Given the description of an element on the screen output the (x, y) to click on. 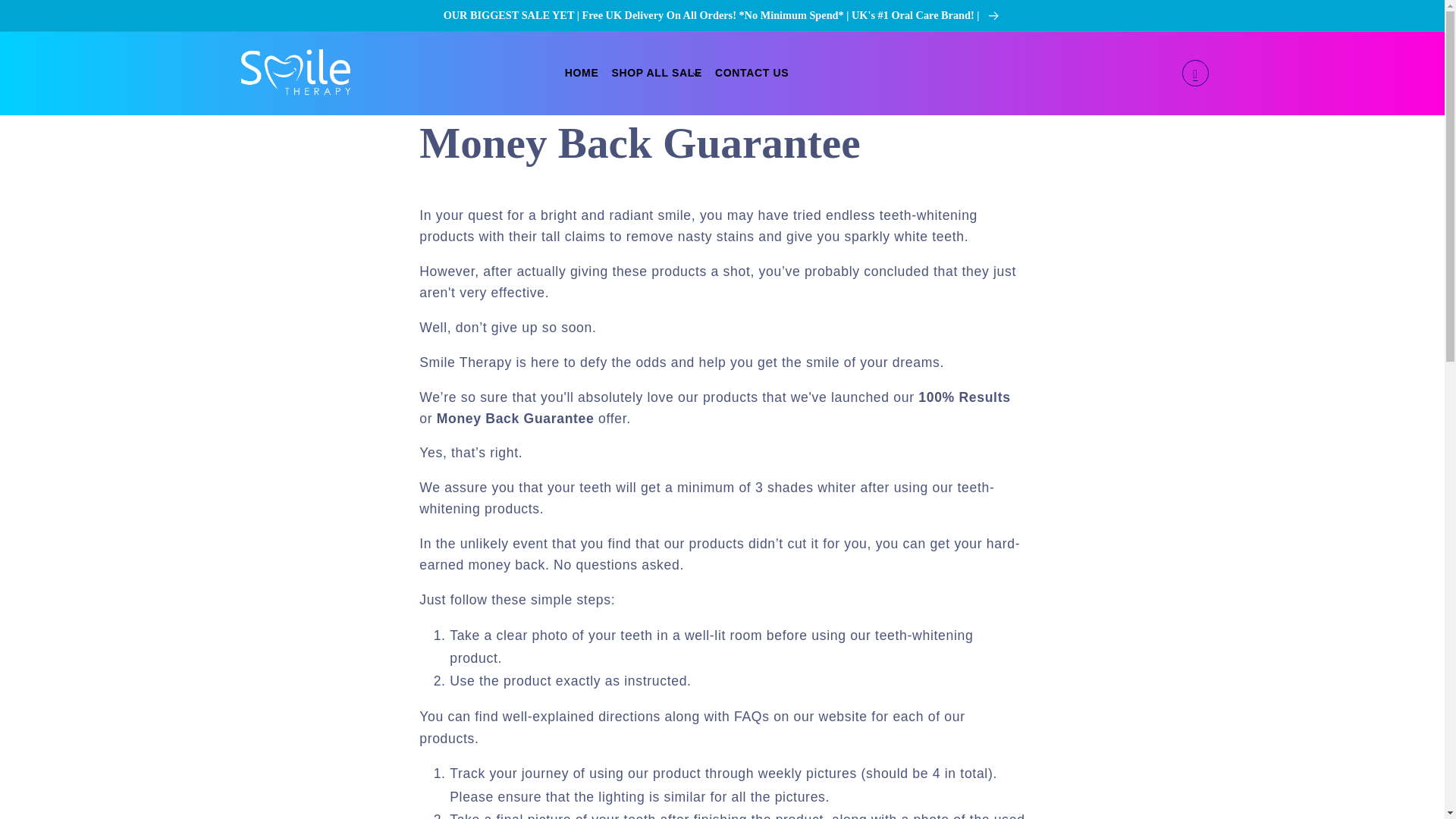
Cart (1194, 73)
CONTACT US (751, 73)
Skip to content (50, 19)
HOME (581, 73)
